Given the description of an element on the screen output the (x, y) to click on. 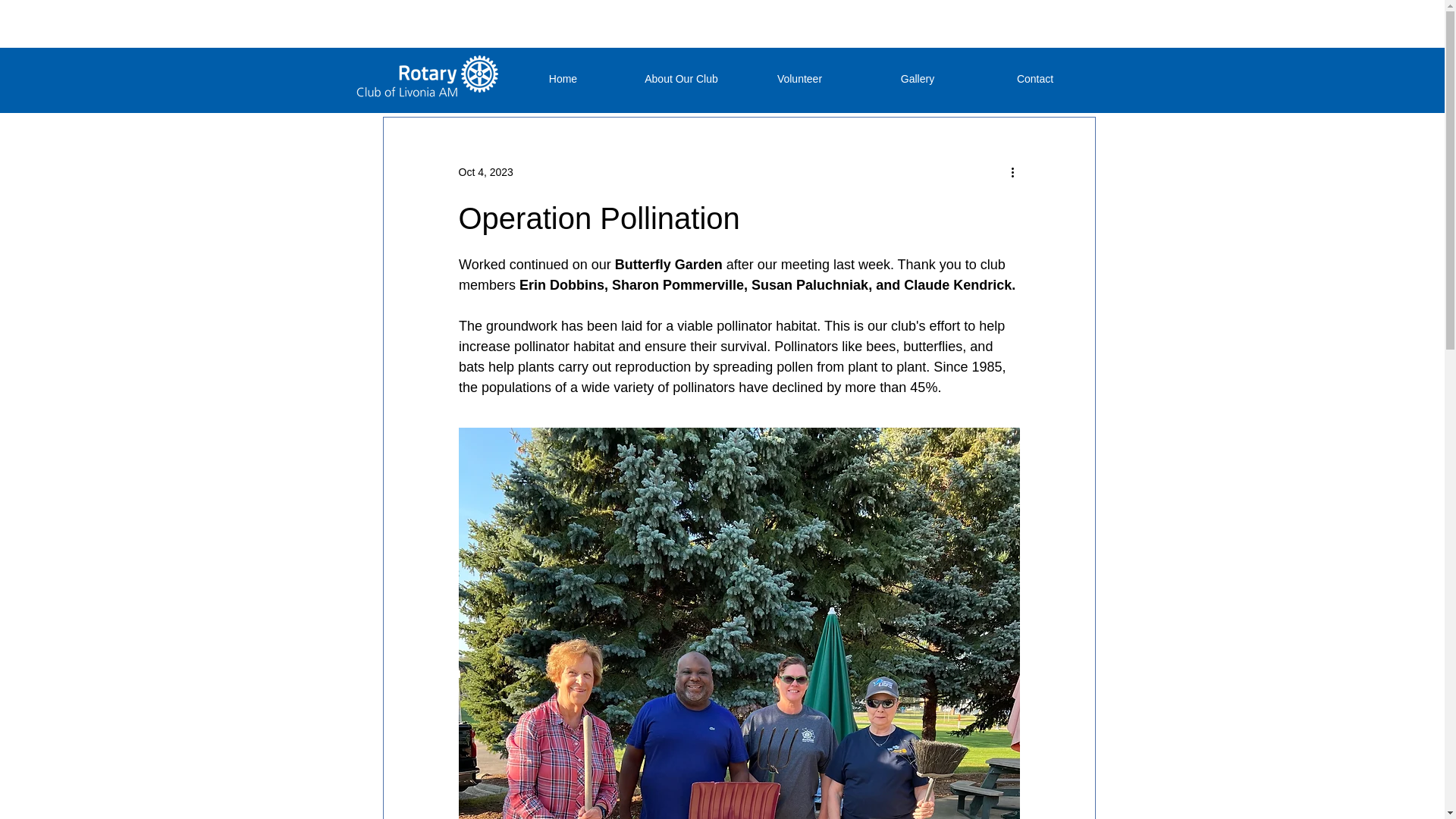
Contact (1035, 78)
Volunteer (799, 78)
Oct 4, 2023 (485, 171)
About Our Club (680, 78)
Gallery (917, 78)
Home (562, 78)
